Given the description of an element on the screen output the (x, y) to click on. 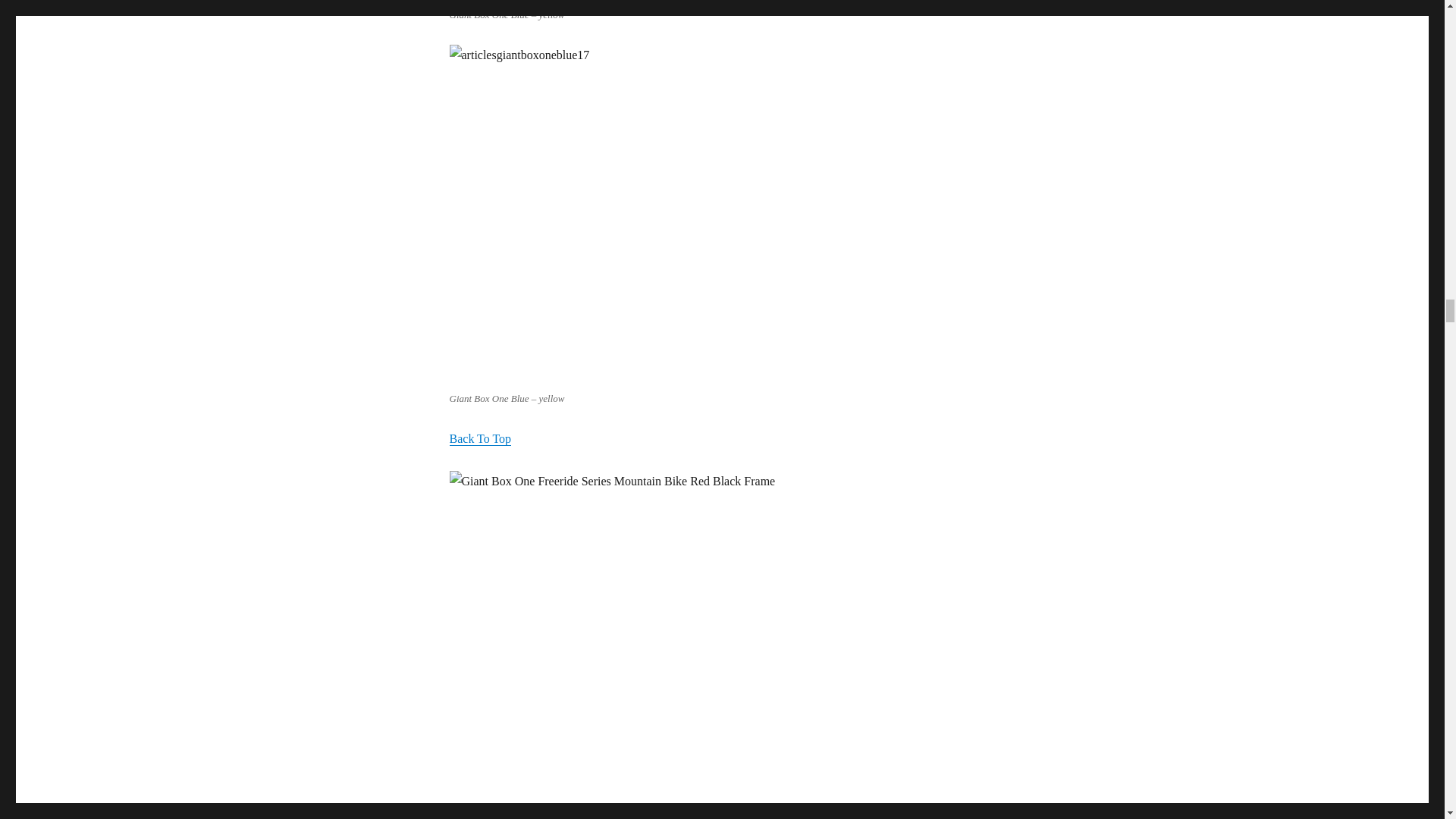
Back To Top (479, 438)
